Given the description of an element on the screen output the (x, y) to click on. 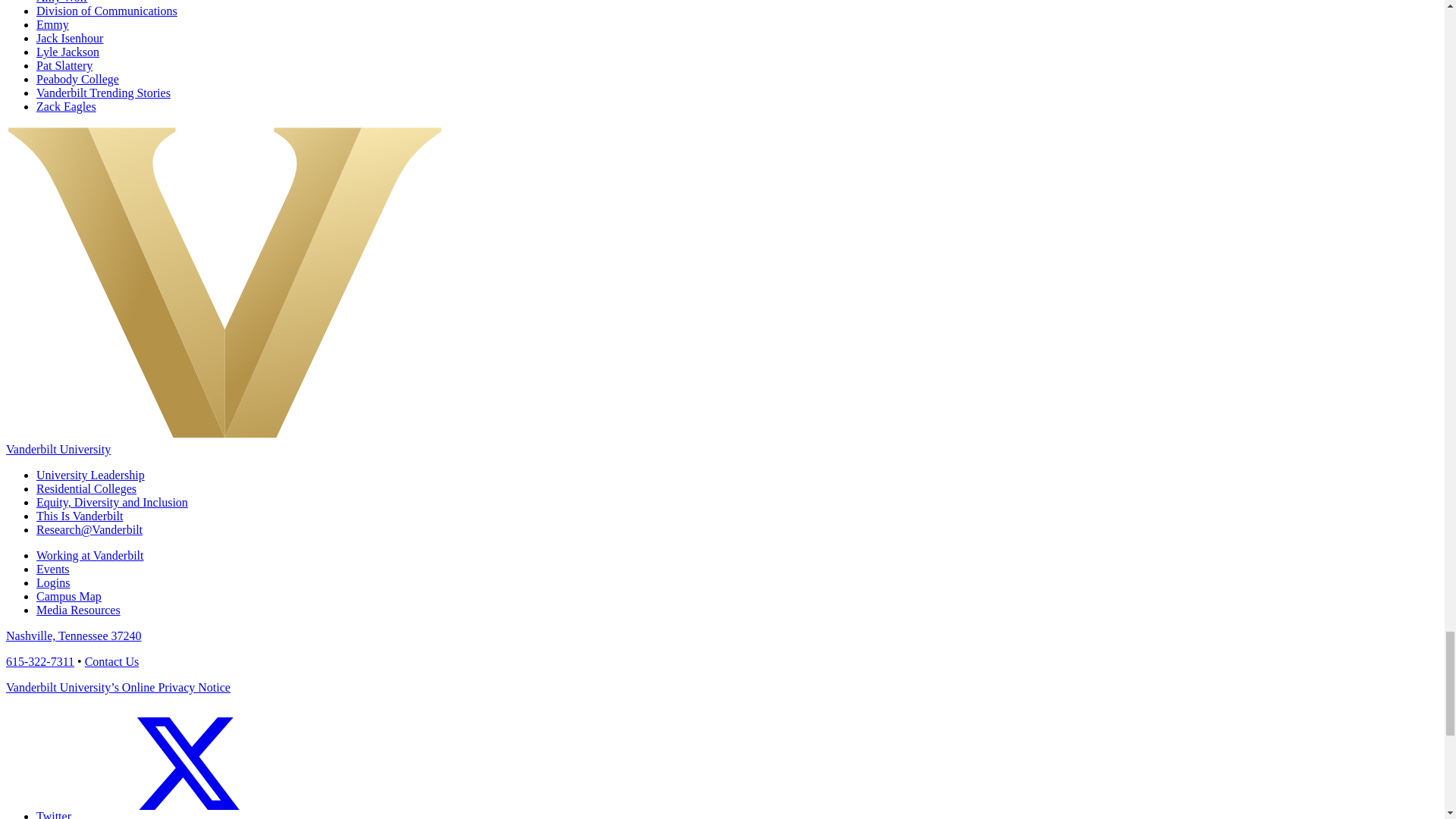
Zack Eagles (66, 106)
Division of Communications (106, 10)
Vanderbilt Trending Stories (103, 92)
Jack Isenhour (69, 38)
Pat Slattery (64, 65)
Amy Wolf (61, 2)
Lyle Jackson (67, 51)
Emmy (52, 24)
Equity, Diversity and Inclusion (111, 502)
Residential Colleges (86, 488)
University Leadership (90, 474)
Peabody College (77, 78)
